Given the description of an element on the screen output the (x, y) to click on. 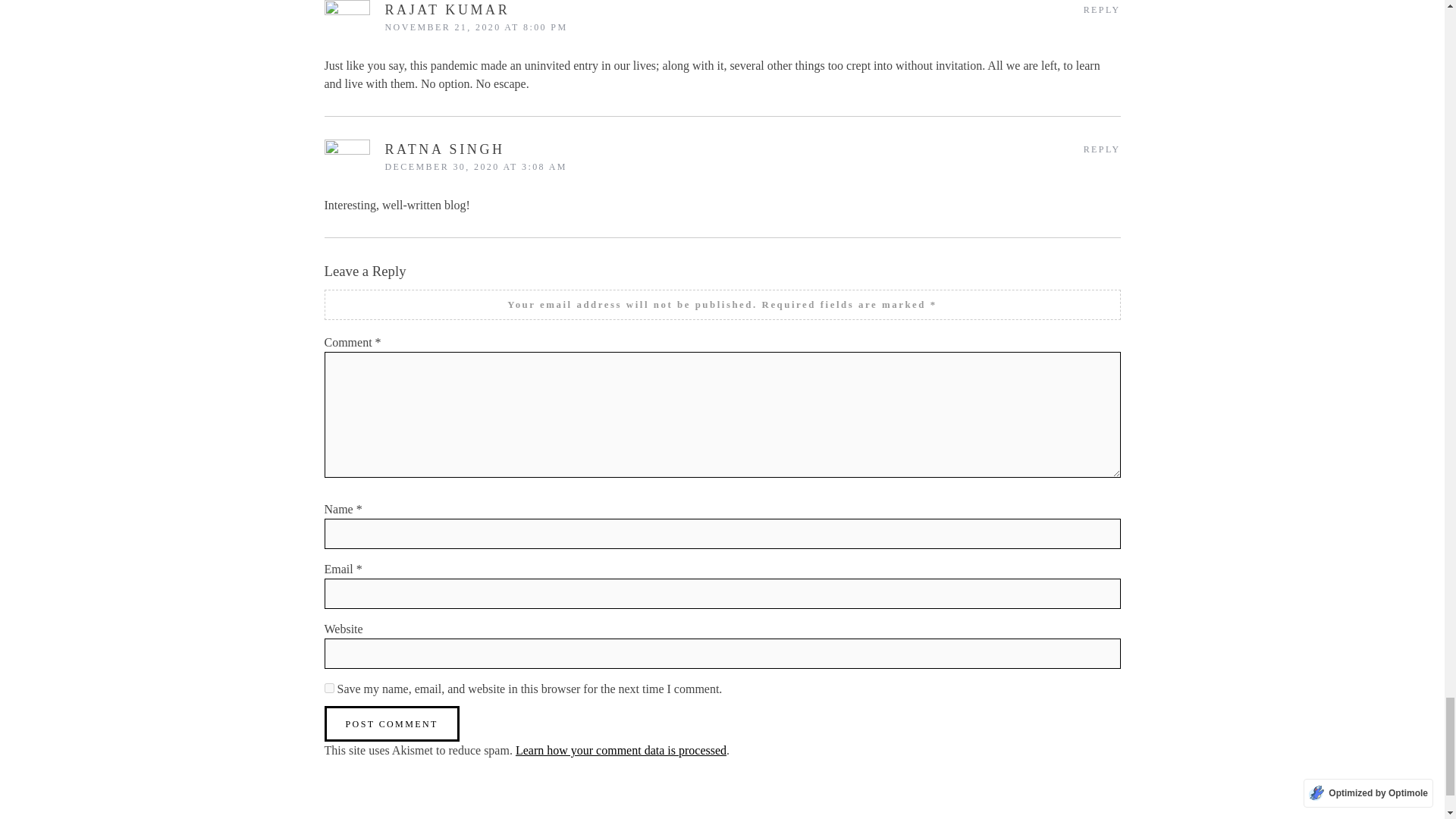
Post Comment (392, 723)
yes (329, 687)
